Given the description of an element on the screen output the (x, y) to click on. 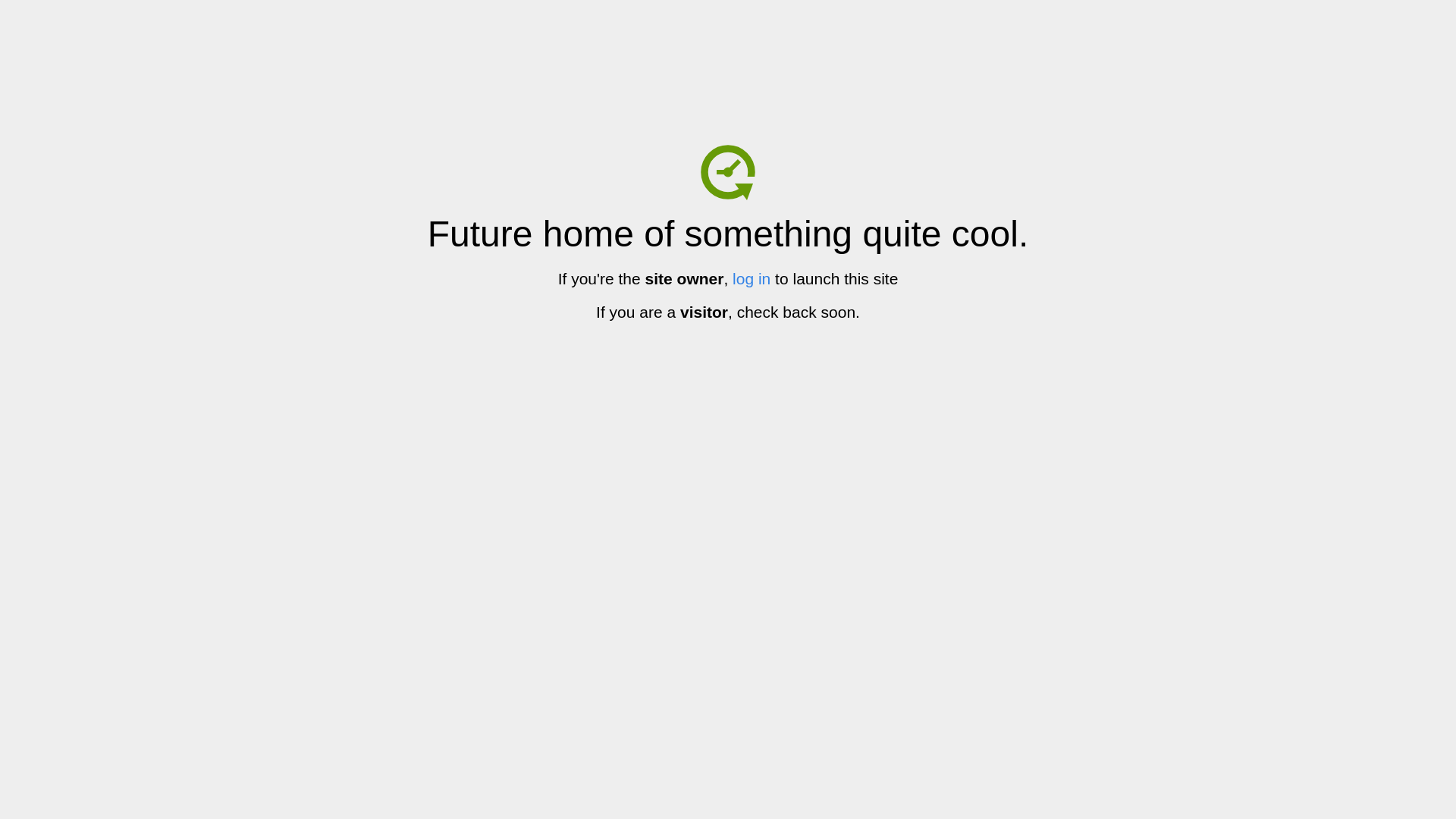
log in Element type: text (751, 278)
